Given the description of an element on the screen output the (x, y) to click on. 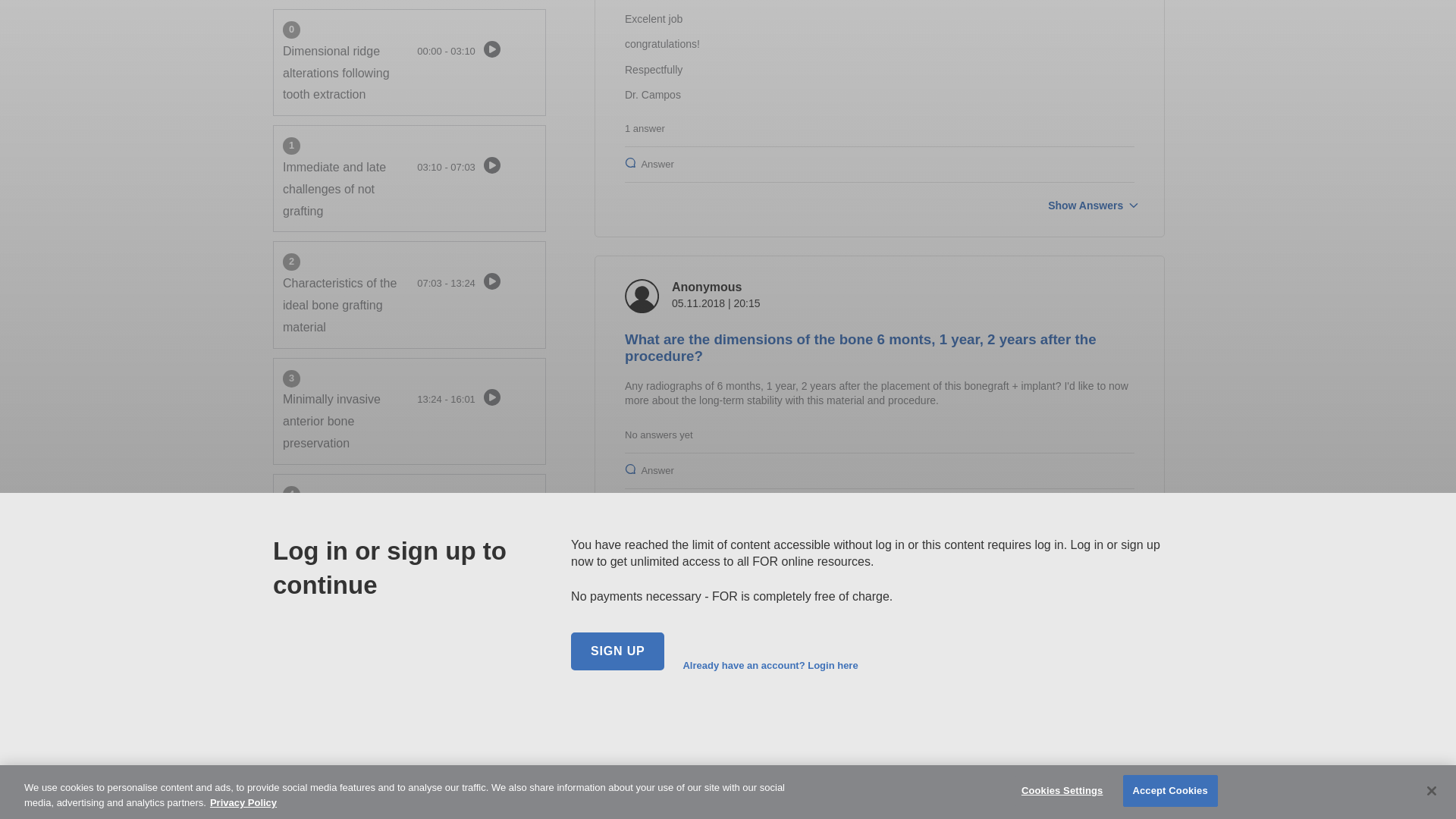
icon-account (641, 295)
icon-account (641, 601)
